Given the description of an element on the screen output the (x, y) to click on. 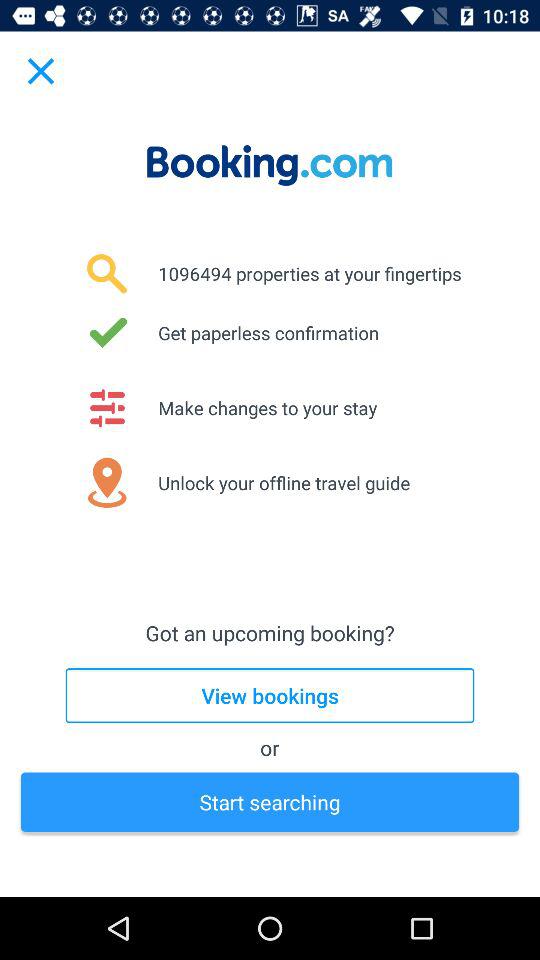
launch start searching item (270, 801)
